Given the description of an element on the screen output the (x, y) to click on. 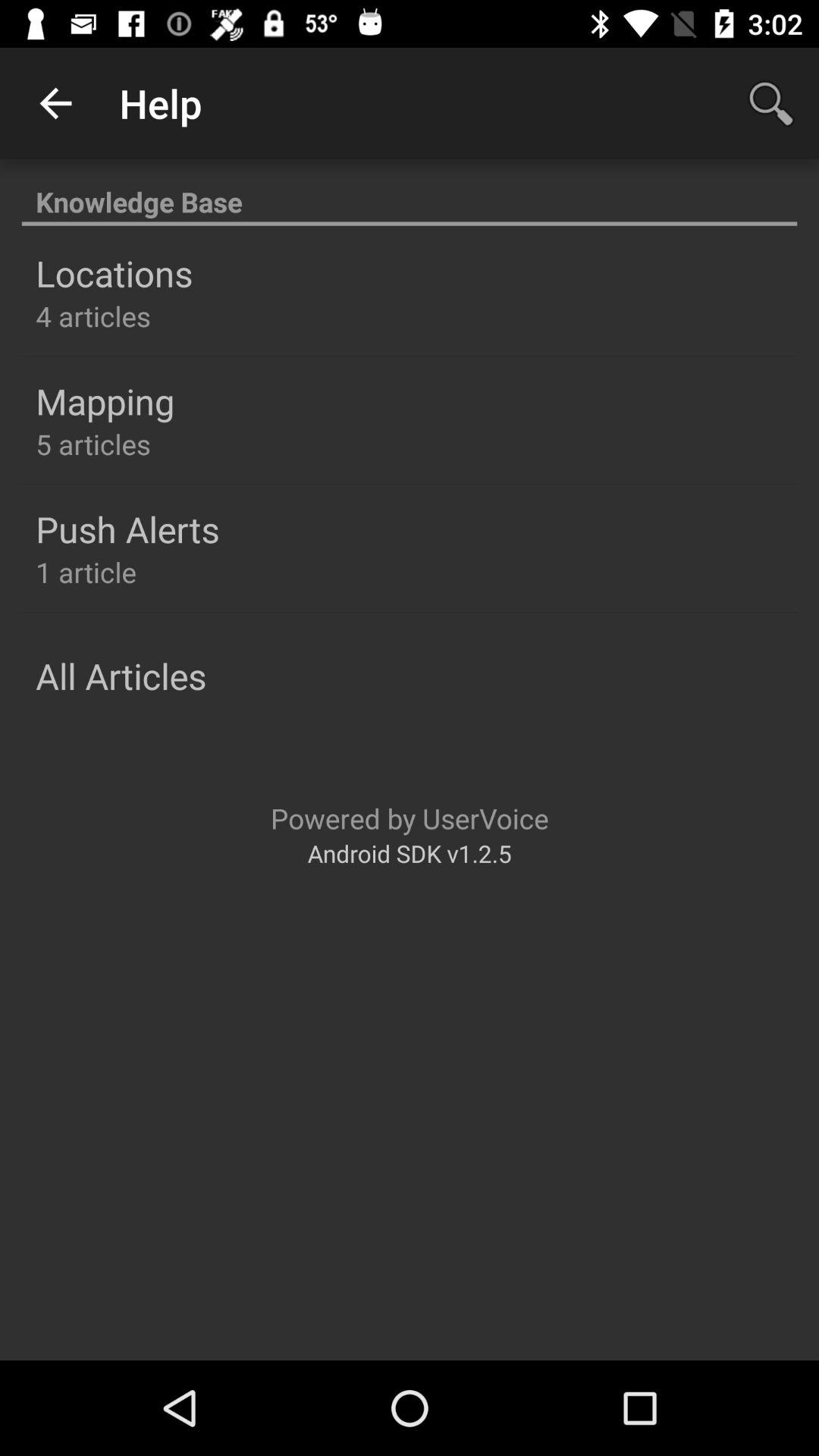
swipe until all articles (120, 675)
